Given the description of an element on the screen output the (x, y) to click on. 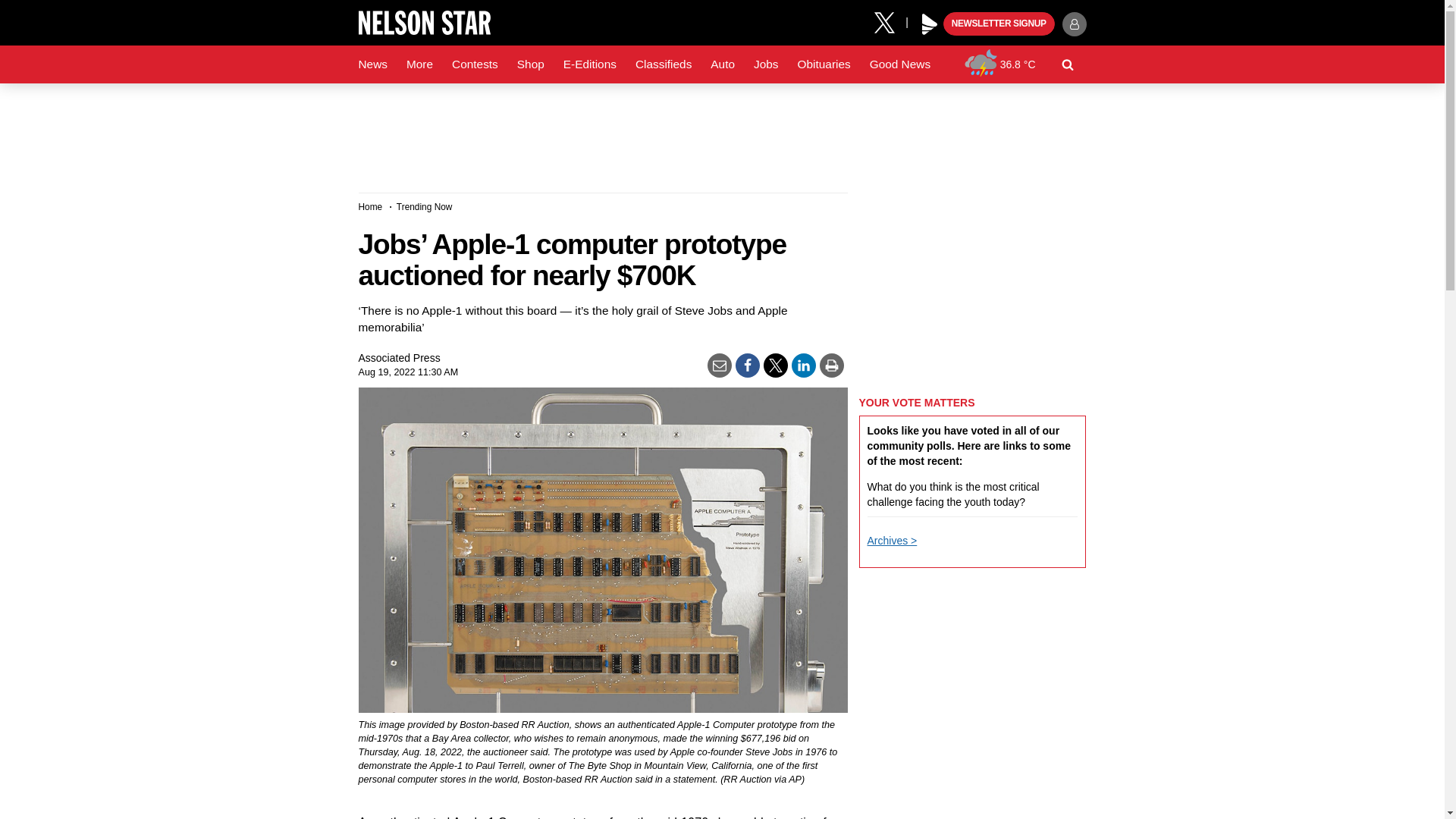
Black Press Media (929, 24)
Play (929, 24)
3rd party ad content (972, 287)
3rd party ad content (721, 131)
X (889, 21)
News (372, 64)
NEWSLETTER SIGNUP (998, 24)
